Given the description of an element on the screen output the (x, y) to click on. 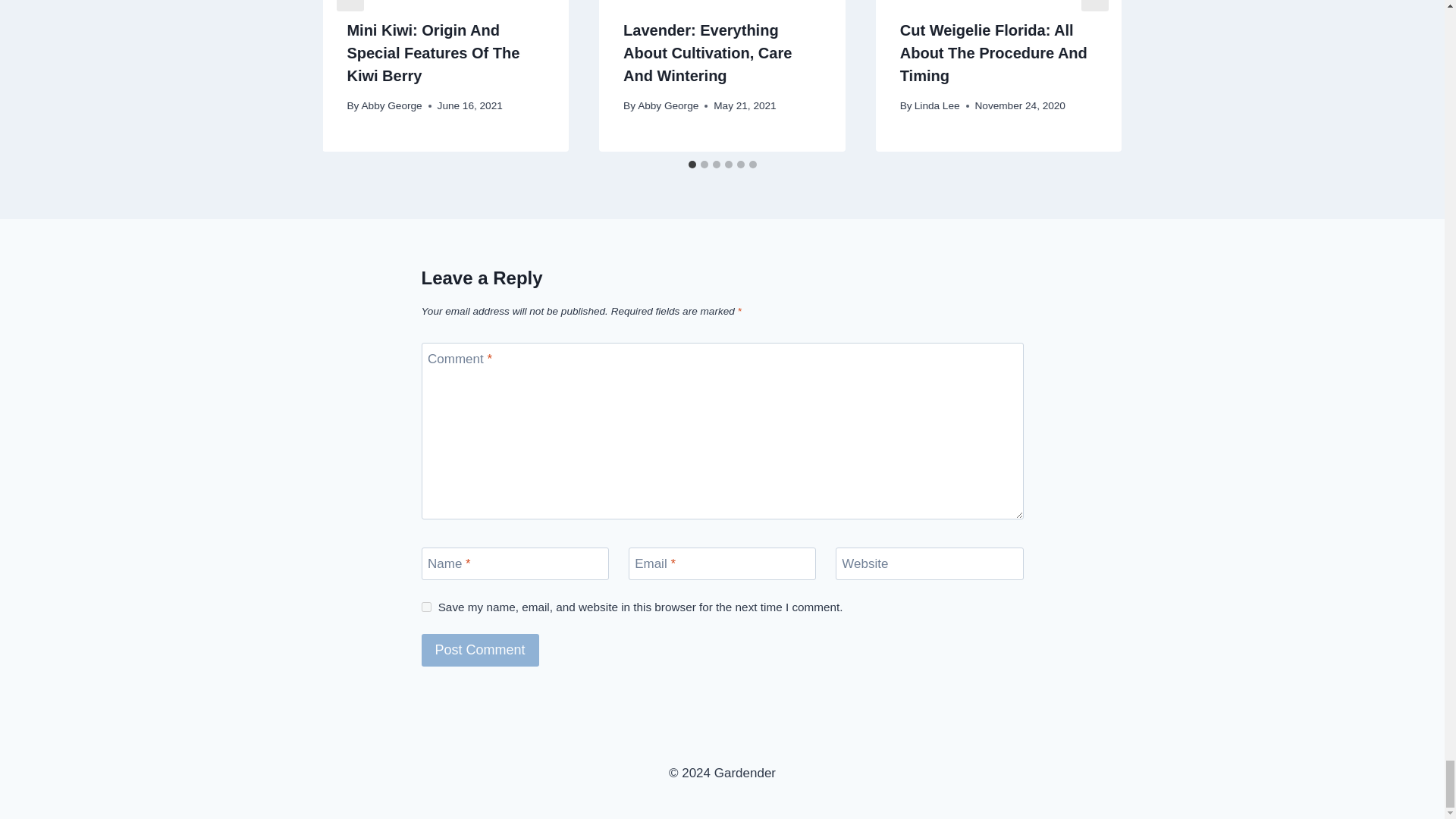
yes (426, 606)
Post Comment (480, 649)
